Given the description of an element on the screen output the (x, y) to click on. 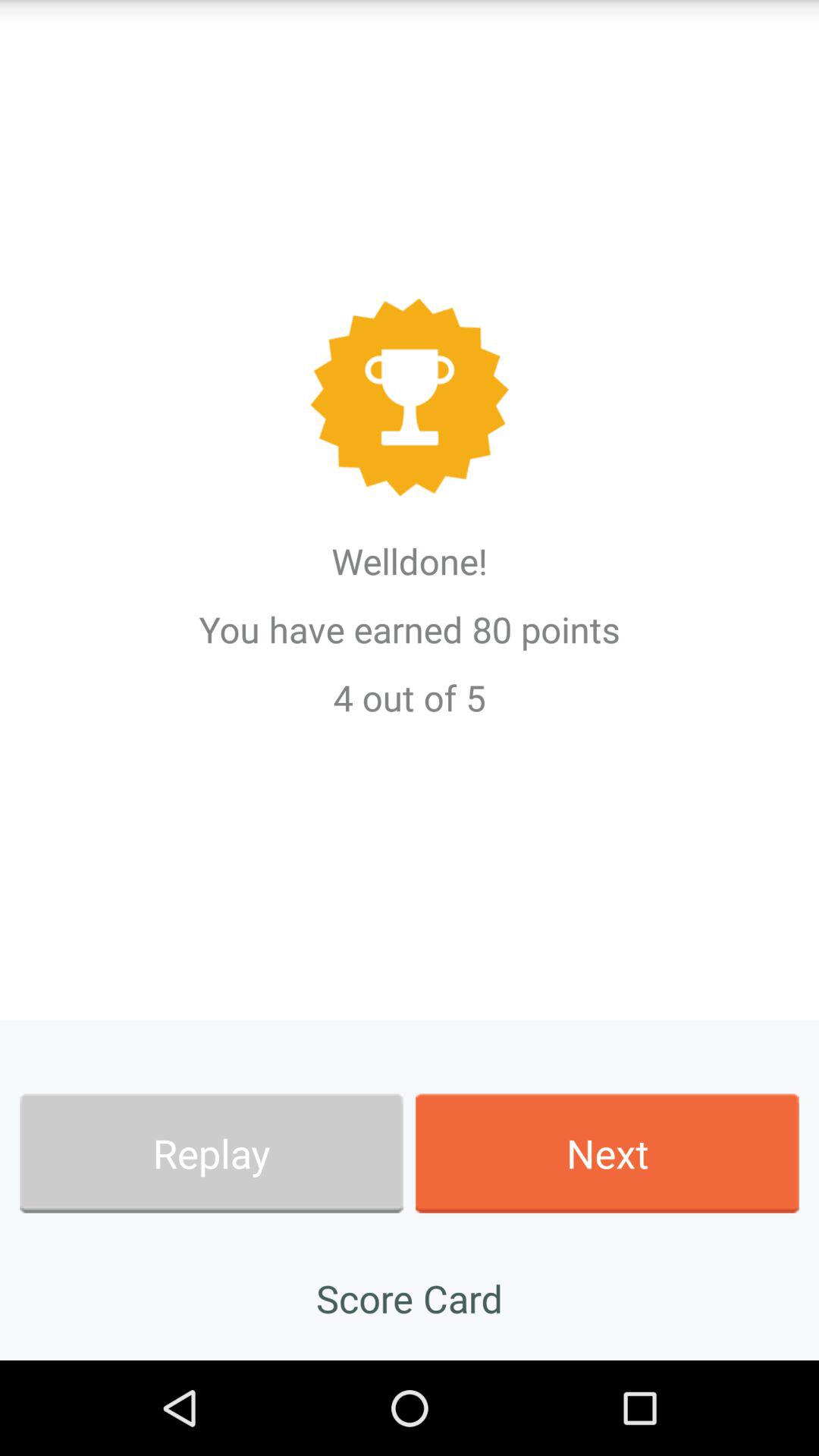
select score card (409, 1298)
